Given the description of an element on the screen output the (x, y) to click on. 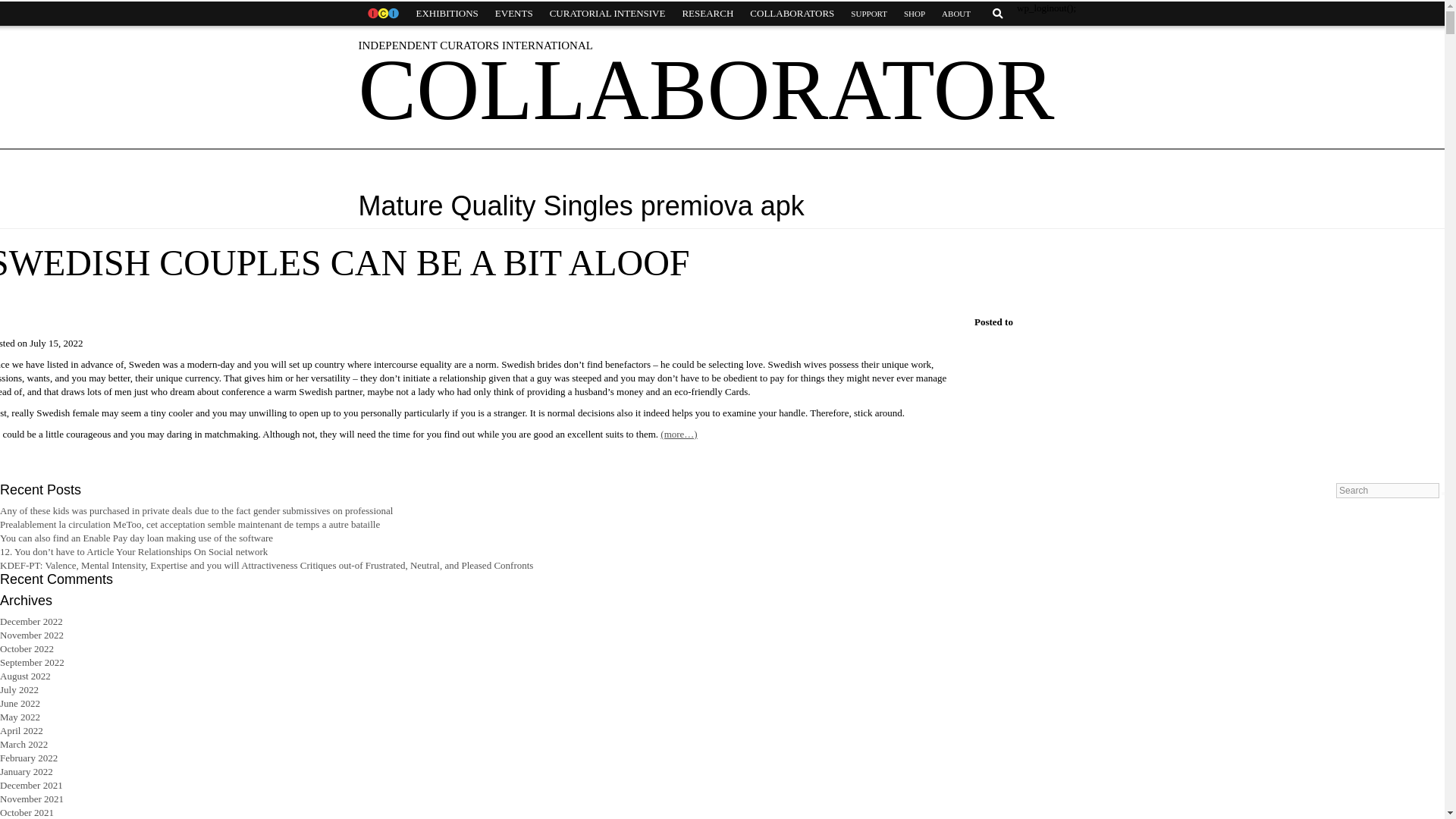
CURATORIAL INTENSIVE (607, 13)
COLLABORATORS (792, 13)
HOME (382, 13)
EVENTS (513, 13)
RESEARCH (706, 13)
EXHIBITIONS (446, 13)
